Given the description of an element on the screen output the (x, y) to click on. 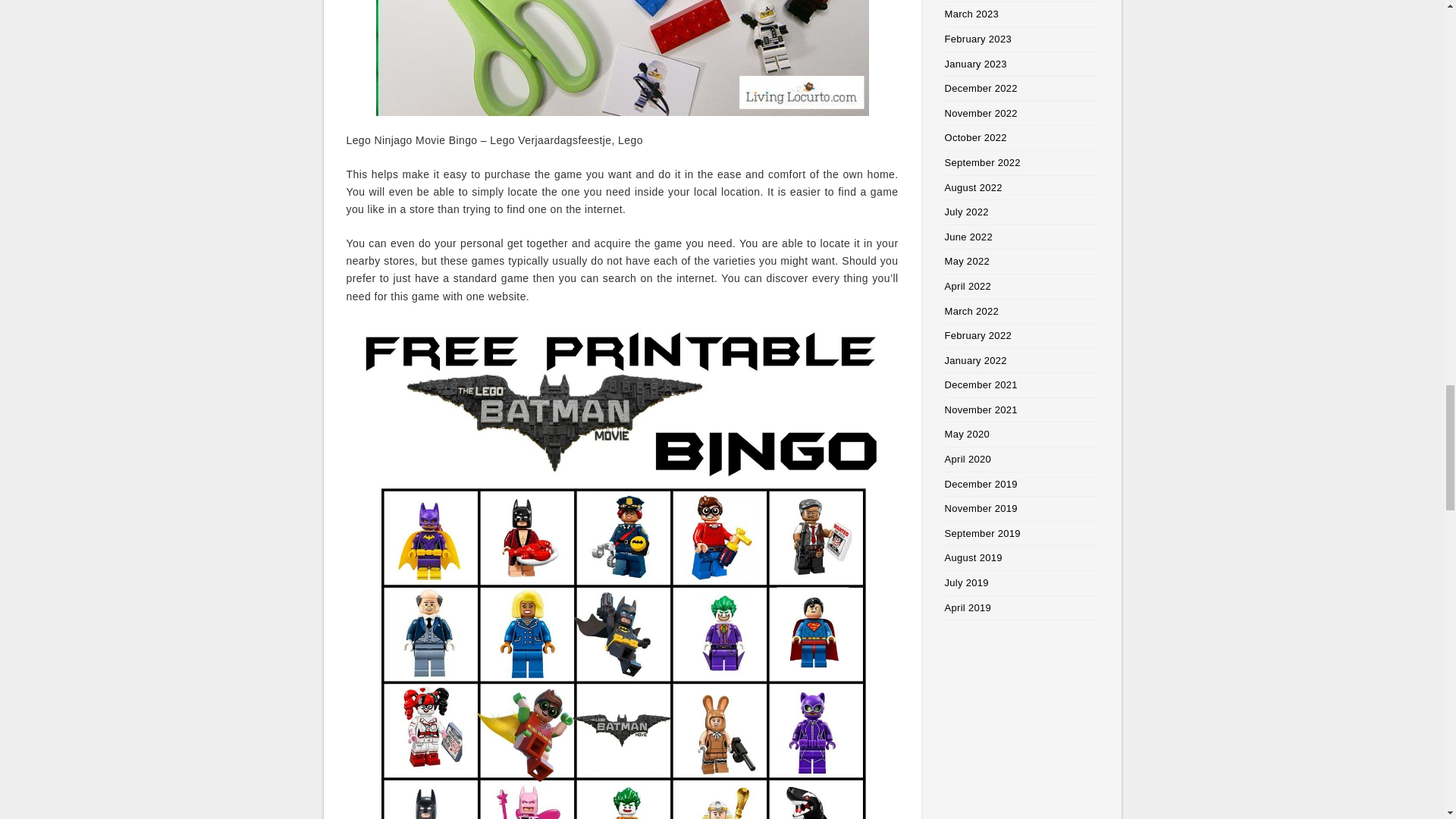
lego ninjago movie bingo lego verjaardagsfeestje lego 1 (622, 58)
